Given the description of an element on the screen output the (x, y) to click on. 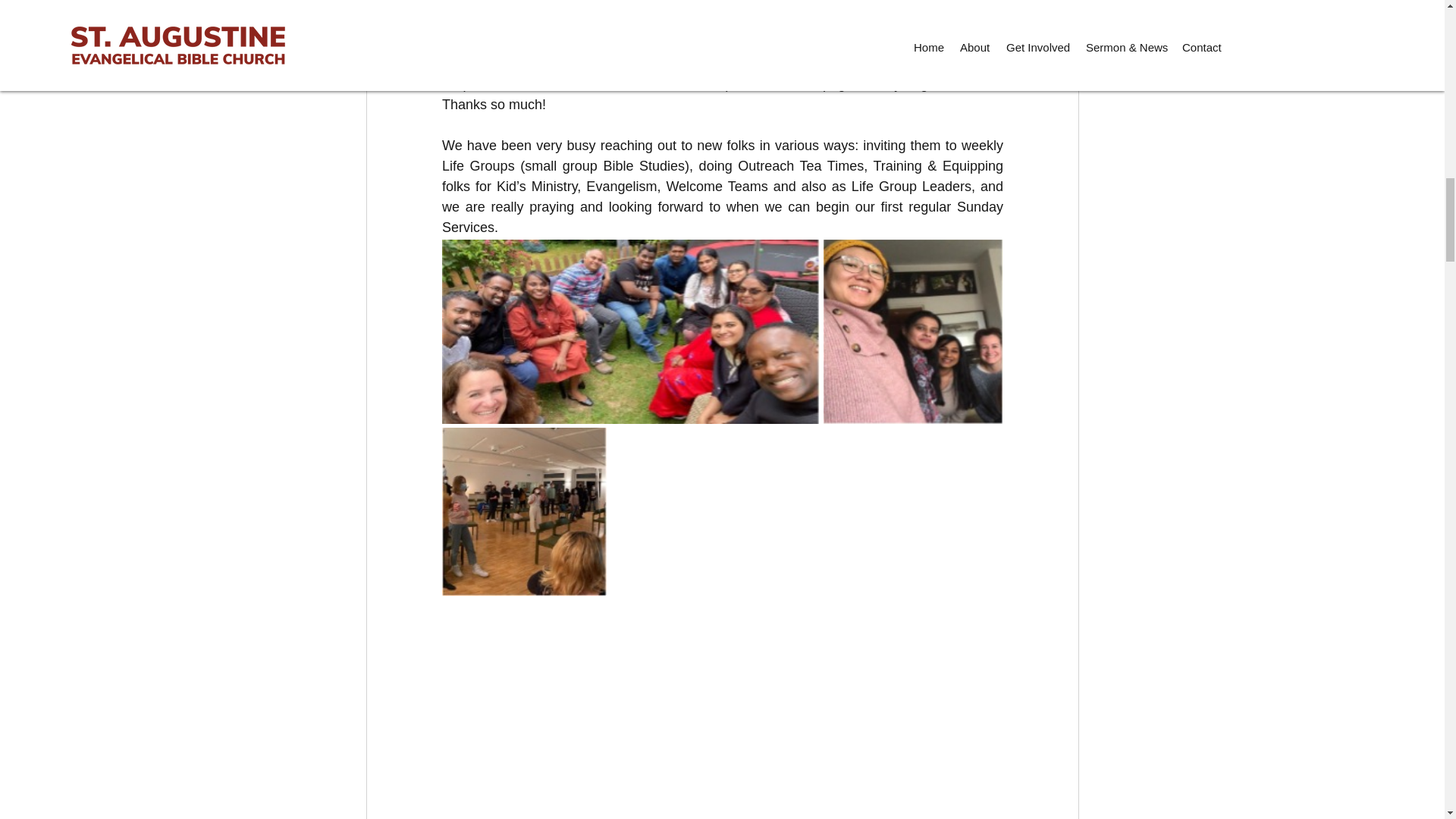
Facebook (788, 83)
